Given the description of an element on the screen output the (x, y) to click on. 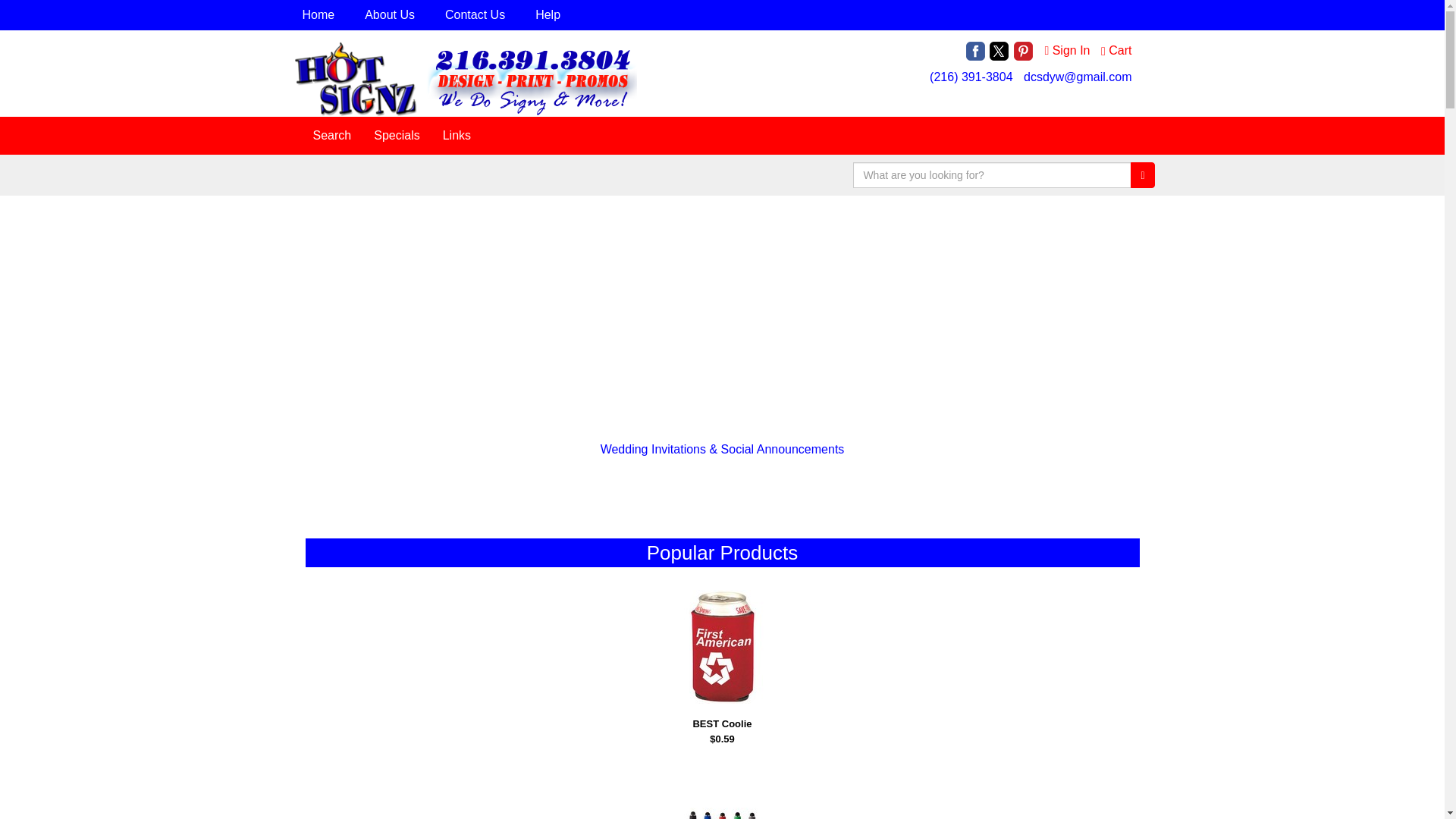
Visit us on Pinterest (1022, 50)
Search (331, 135)
Specials (396, 135)
Home (320, 15)
Visit us on Twitter (999, 50)
Visit us on Facebook (975, 50)
Links (455, 135)
Sign In (1066, 50)
About Us (392, 15)
Help (550, 15)
